Given the description of an element on the screen output the (x, y) to click on. 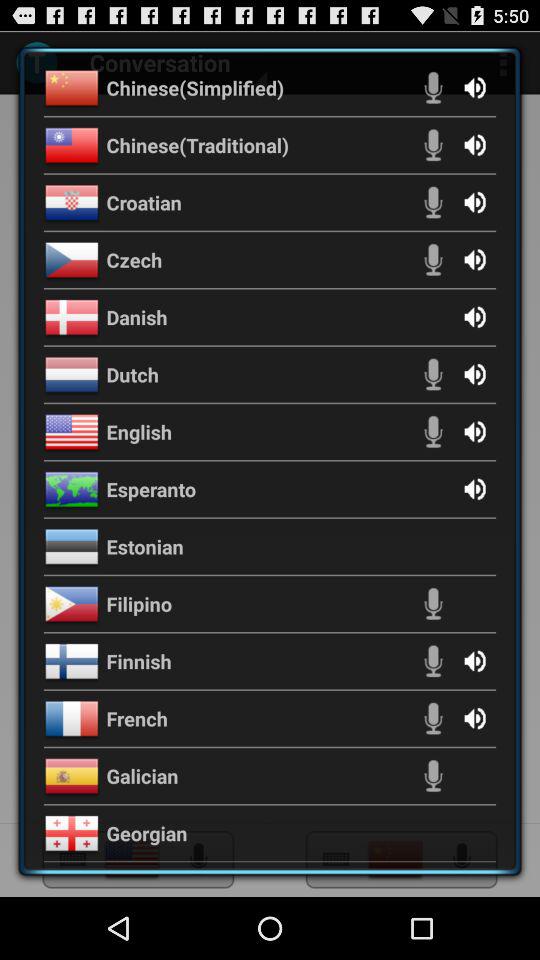
turn off the chinese(simplified) icon (195, 87)
